Given the description of an element on the screen output the (x, y) to click on. 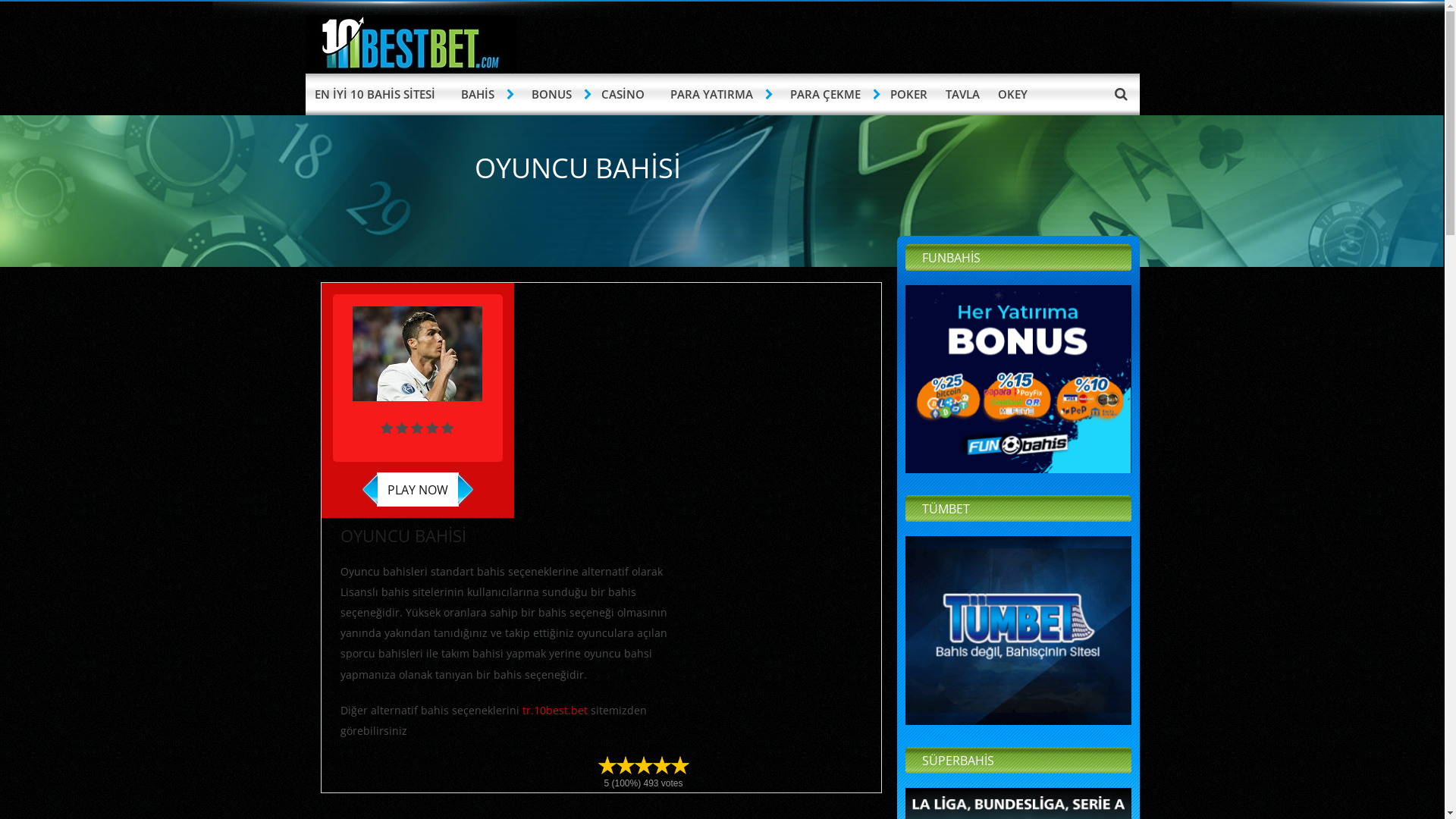
BONUS Element type: text (552, 94)
PARA YATIRMA Element type: text (713, 94)
CASINO Element type: text (621, 94)
Search Element type: hover (1120, 93)
OKEY Element type: text (1012, 94)
TAVLA Element type: text (961, 94)
PLAY NOW Element type: text (417, 489)
tr.10best.bet Element type: text (553, 709)
En iyi 10 BAHIS SITESI Element type: hover (410, 66)
BAHIS Element type: text (479, 94)
Funbahis Element type: hover (1018, 379)
POKER Element type: text (908, 94)
